Given the description of an element on the screen output the (x, y) to click on. 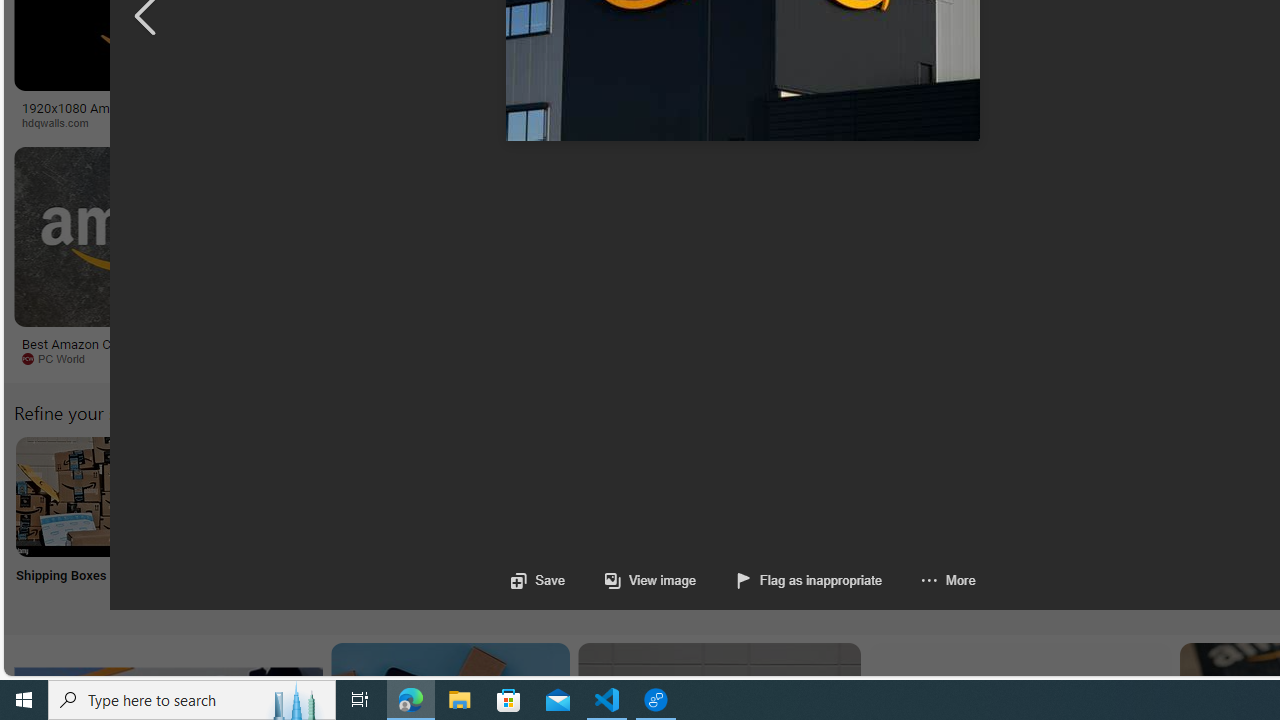
GOBankingRates (485, 123)
hdqwalls.com (167, 123)
thewrap.com (937, 359)
Amazon Online Store (1131, 496)
Amazon Package Delivery Package Delivery (735, 521)
Amazon Wish List Wish List (999, 521)
Amazon Jobs Near Me Jobs Near Me (604, 521)
